Given the description of an element on the screen output the (x, y) to click on. 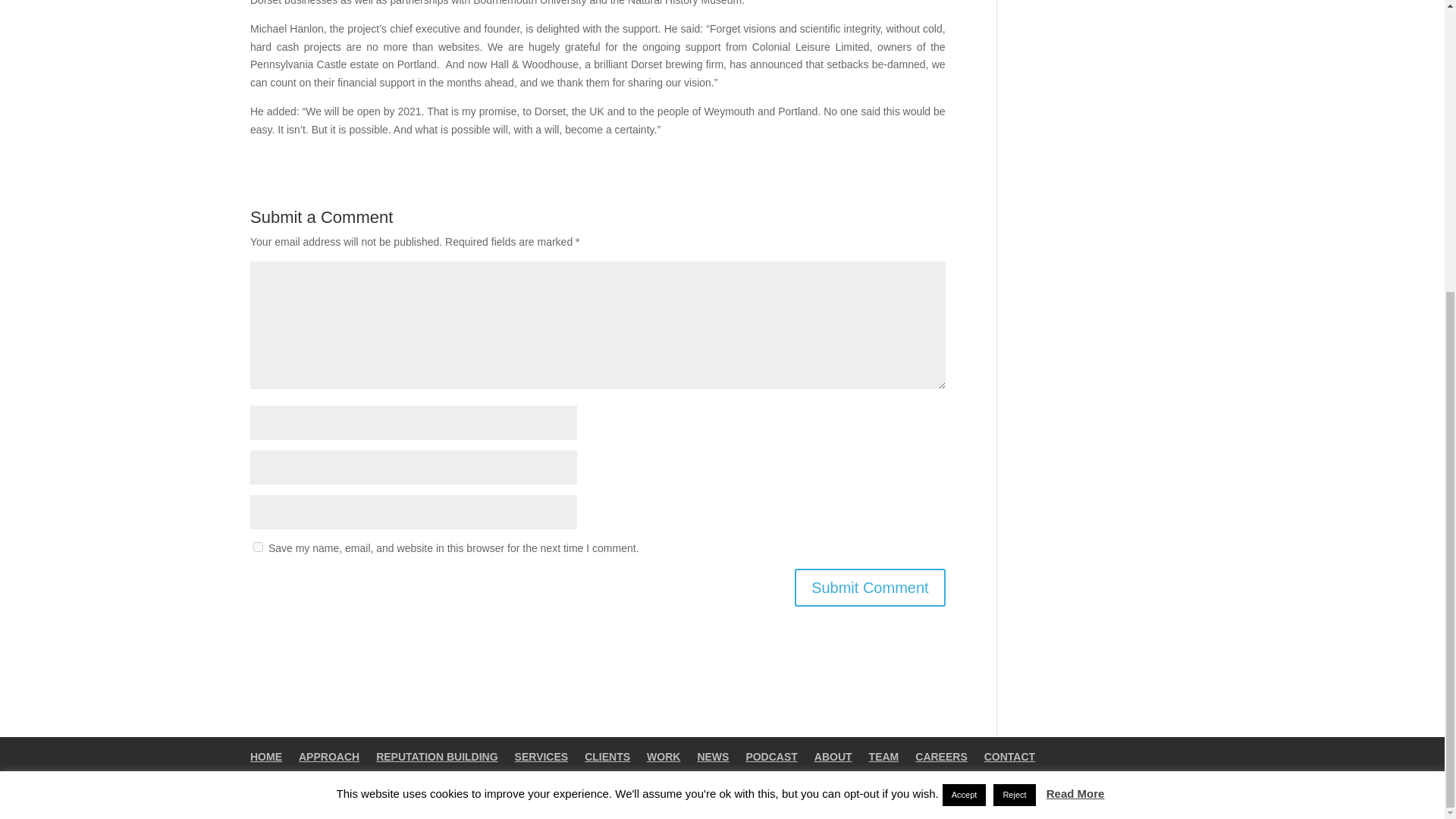
yes (258, 547)
NEWS (713, 756)
Submit Comment (869, 587)
SERVICES (542, 756)
Submit Comment (869, 587)
CLIENTS (607, 756)
HOME (266, 756)
WORK (662, 756)
REPUTATION BUILDING (436, 756)
APPROACH (328, 756)
